Given the description of an element on the screen output the (x, y) to click on. 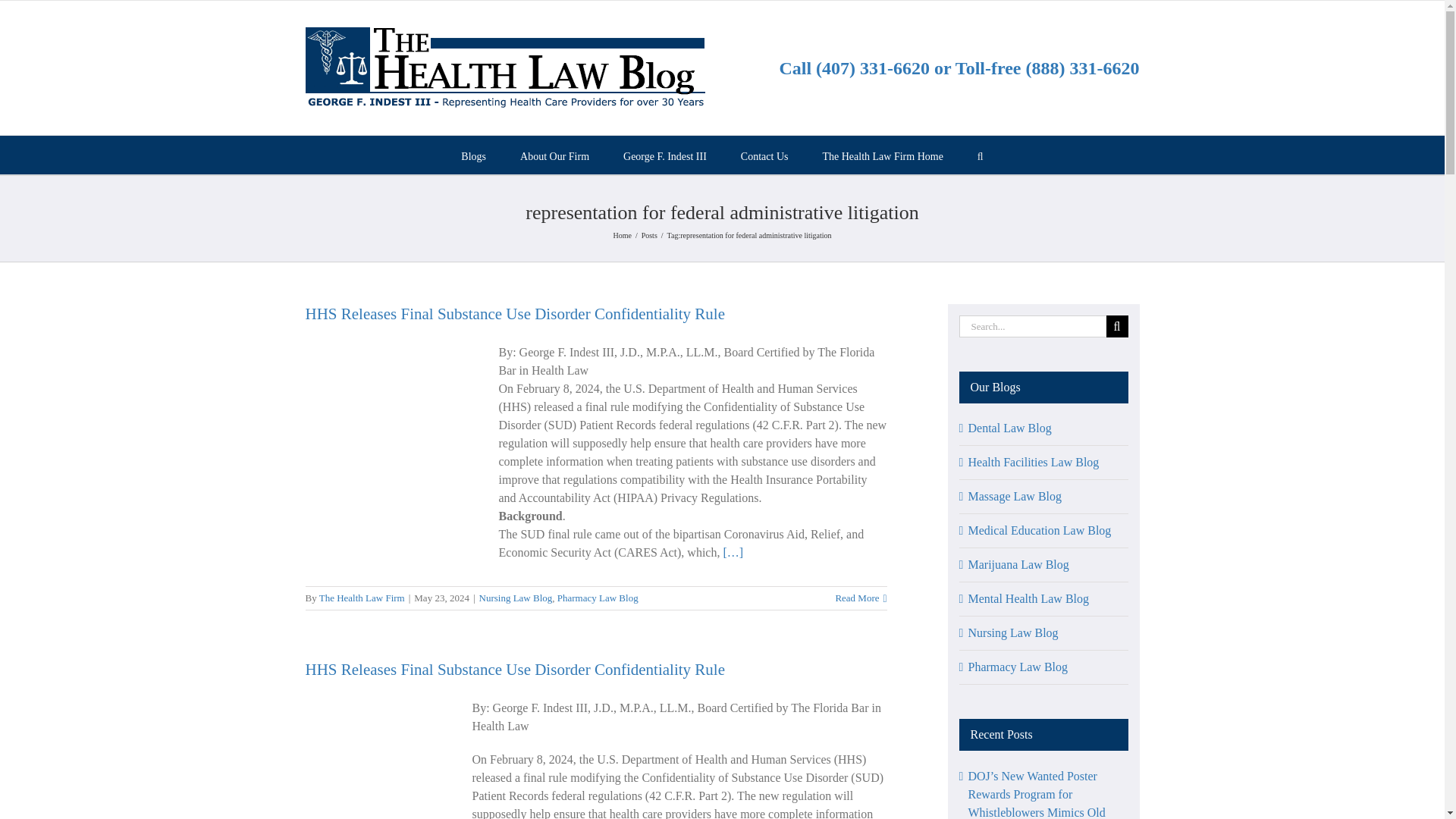
Posts by The Health Law Firm (361, 597)
Read More (856, 598)
Posts (650, 234)
About Our Firm (554, 154)
Home (621, 234)
Nursing Law Blog (516, 597)
George F. Indest III (664, 154)
The Health Law Firm Home (882, 154)
